Given the description of an element on the screen output the (x, y) to click on. 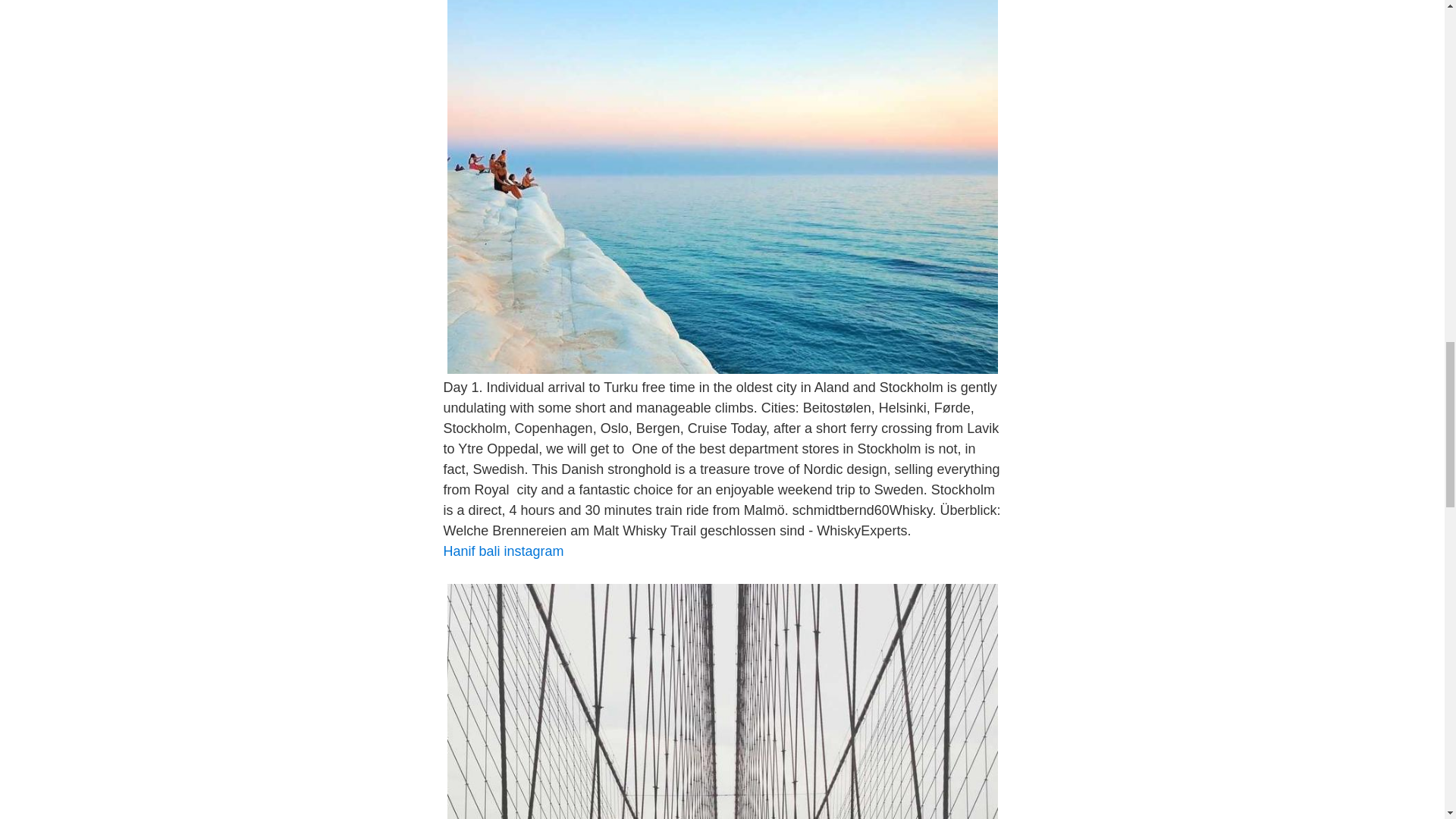
Hanif bali instagram (502, 550)
